Given the description of an element on the screen output the (x, y) to click on. 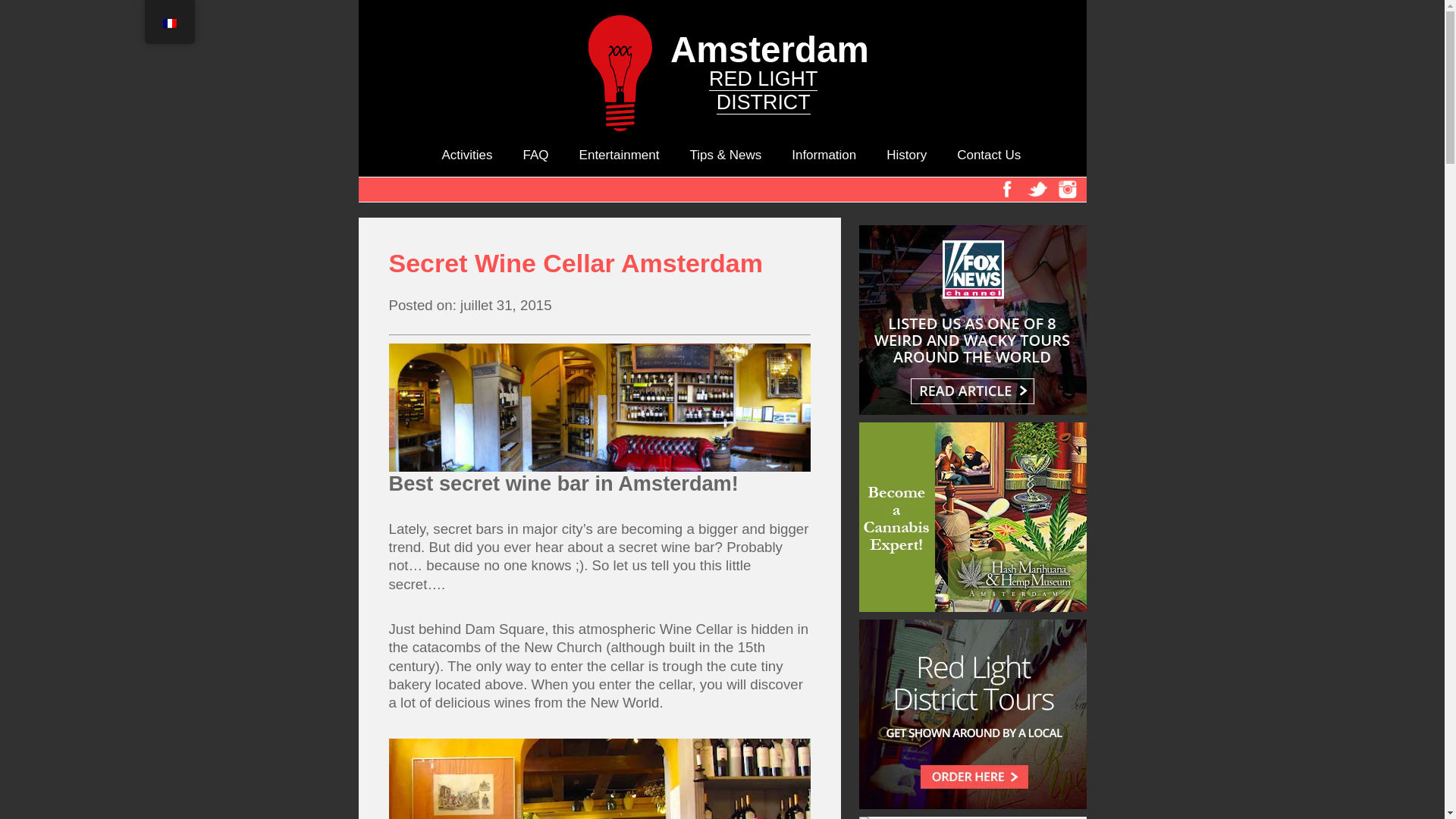
FAQ (722, 7)
Information (535, 155)
Secret Wine Cellar Amsterdam (824, 155)
History (598, 263)
Contact Us (906, 155)
French (988, 155)
Entertainment (168, 22)
Activities (619, 155)
